Given the description of an element on the screen output the (x, y) to click on. 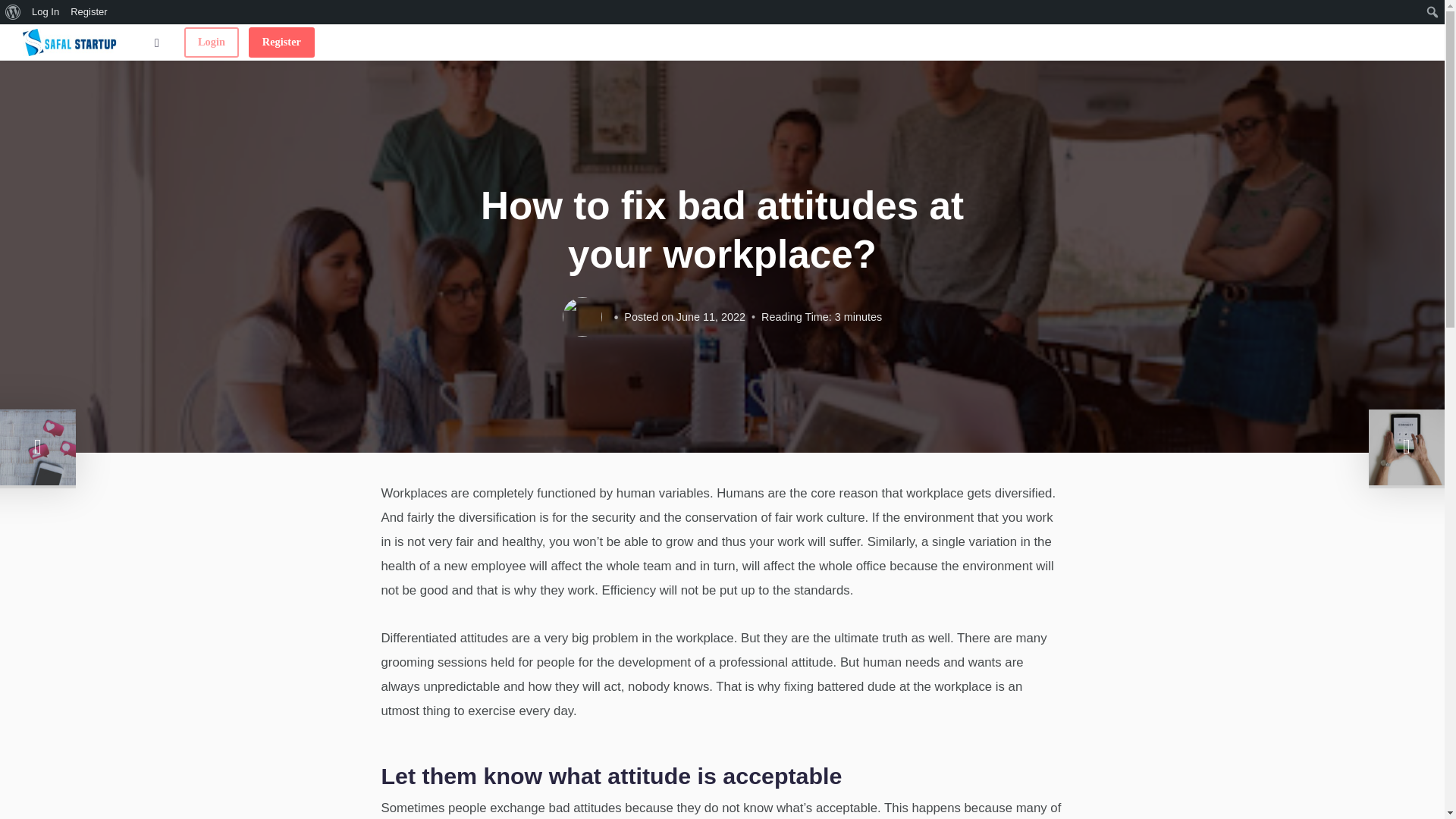
June 11, 2022 (711, 316)
Login (211, 42)
Register (281, 42)
Log In (45, 12)
Register (89, 12)
Search (16, 13)
